Given the description of an element on the screen output the (x, y) to click on. 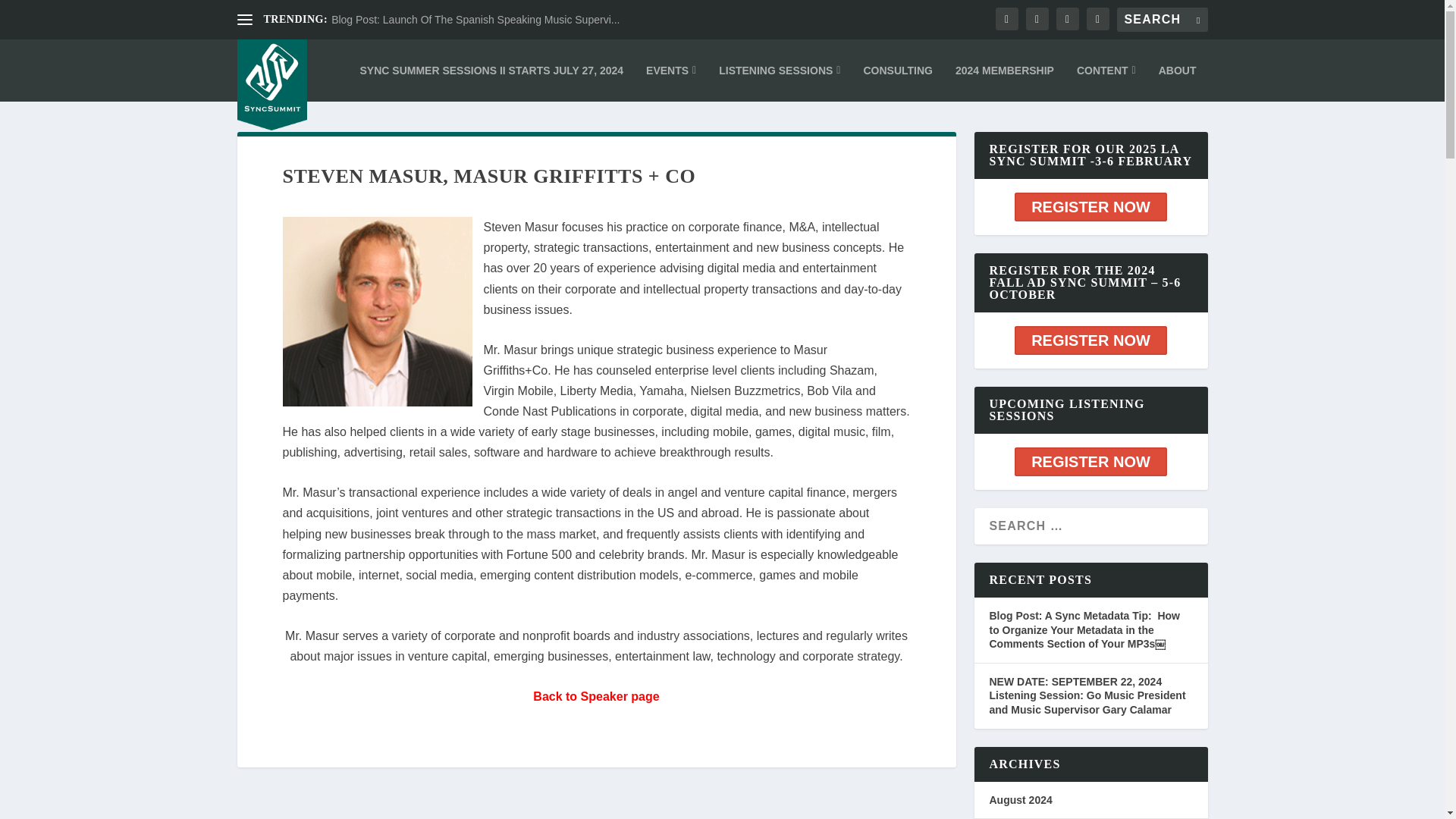
SYNC SUMMER SESSIONS II STARTS JULY 27, 2024 (491, 70)
Blog Post: Launch Of The Spanish Speaking Music Supervi... (475, 19)
Search for: (1161, 19)
